Given the description of an element on the screen output the (x, y) to click on. 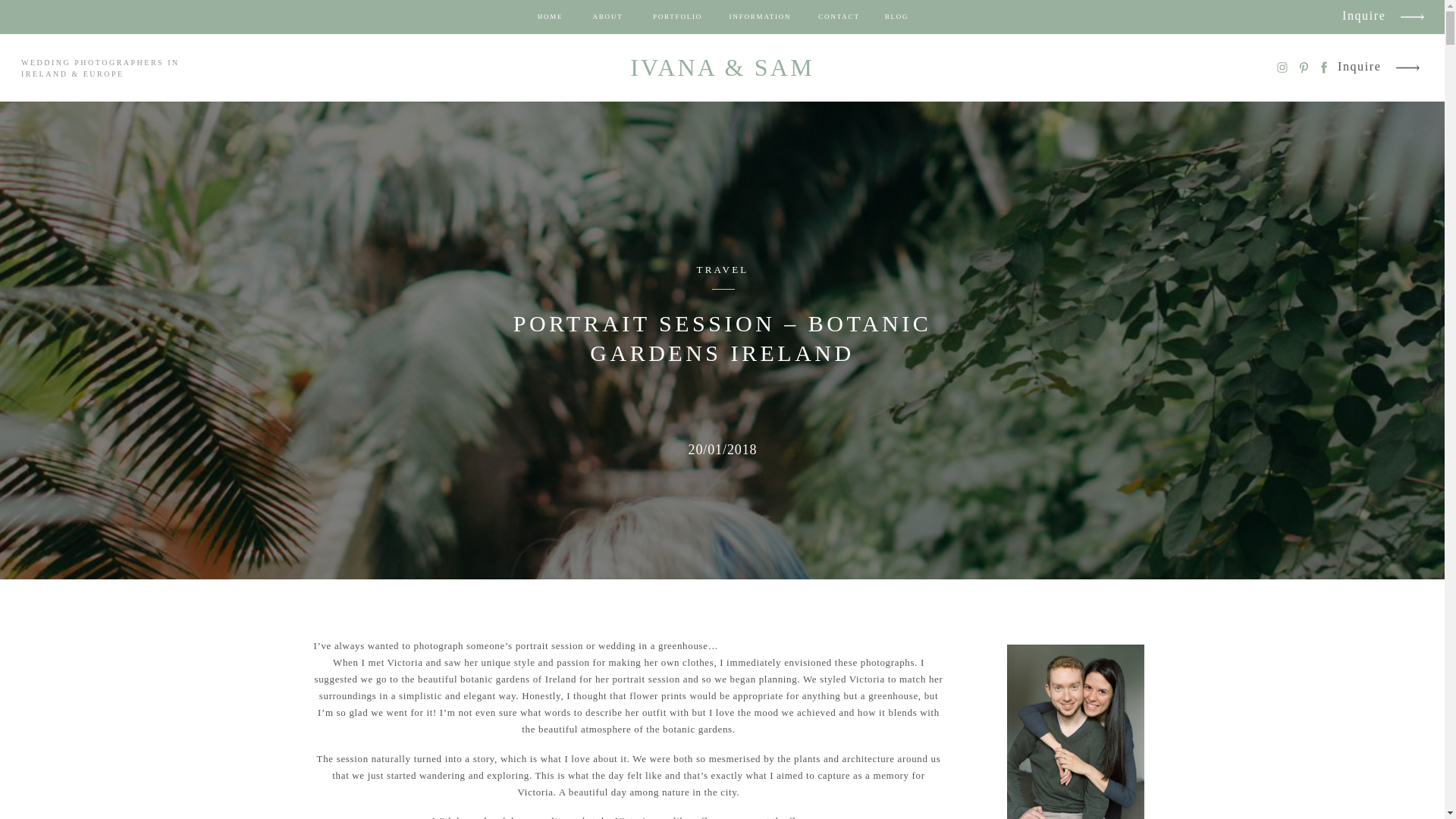
arrow (1407, 67)
ABOUT (607, 17)
Inquire  (1364, 16)
TRAVEL (721, 269)
PORTFOLIO (676, 17)
Inquire  (1360, 67)
HOME (550, 17)
arrow (1411, 19)
CONTACT (838, 17)
arrow (1411, 19)
